Given the description of an element on the screen output the (x, y) to click on. 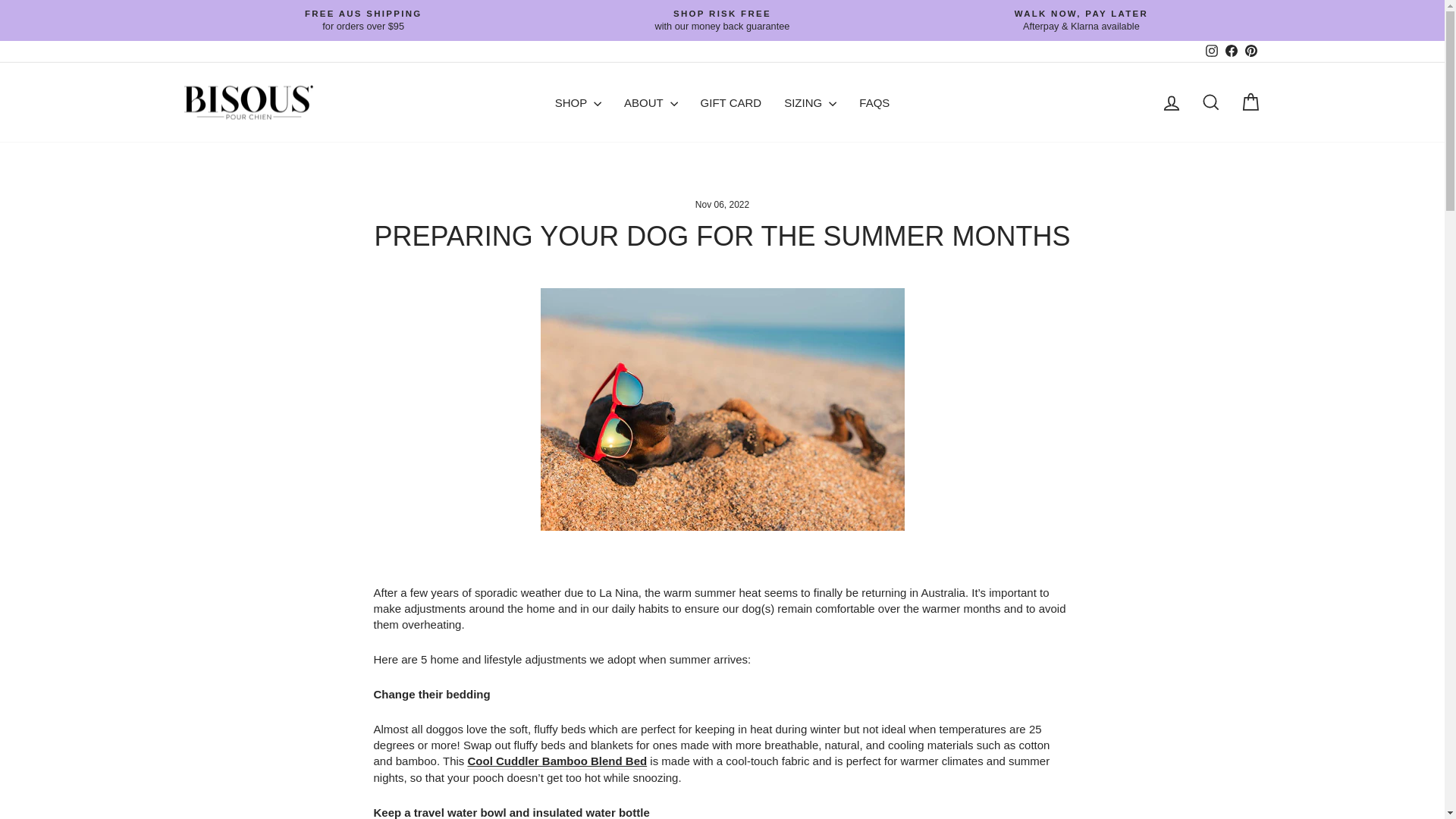
ACCOUNT (1170, 102)
Cool Cuddler Bamboo Blend Bed (556, 760)
instagram (1211, 50)
Pinterest (1250, 51)
Bisous Pets on Facebook (1230, 51)
ICON-SEARCH (1210, 102)
Bisous Pets on Instagram (1211, 51)
Facebook (1211, 51)
Bisous Pets on Pinterest (1230, 51)
